Given the description of an element on the screen output the (x, y) to click on. 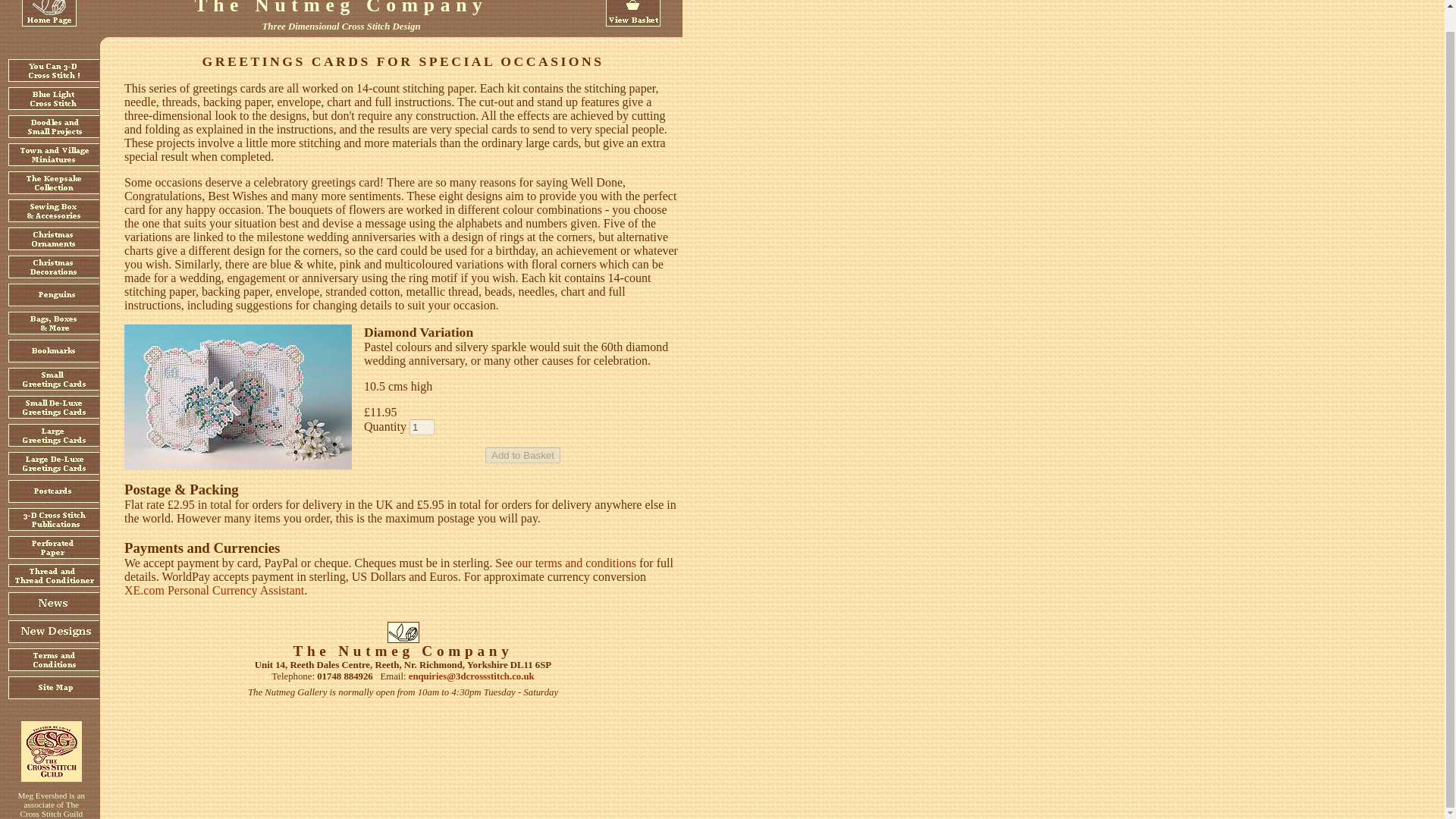
XE.com Personal Currency Assistant (213, 590)
our terms and conditions (575, 562)
1 (421, 426)
Add to Basket (522, 455)
